Given the description of an element on the screen output the (x, y) to click on. 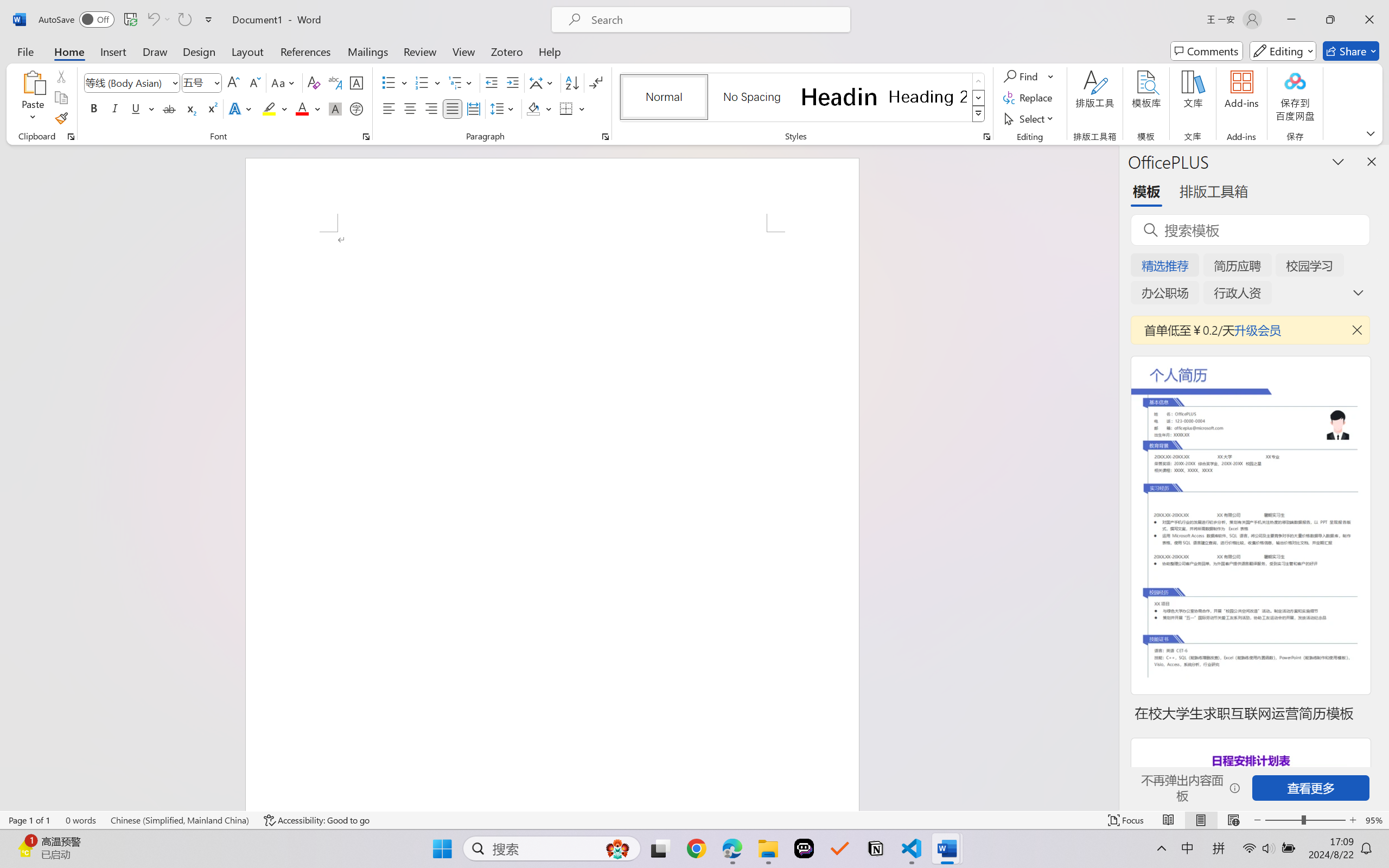
Class: MsoCommandBar (694, 819)
Microsoft search (715, 19)
